Given the description of an element on the screen output the (x, y) to click on. 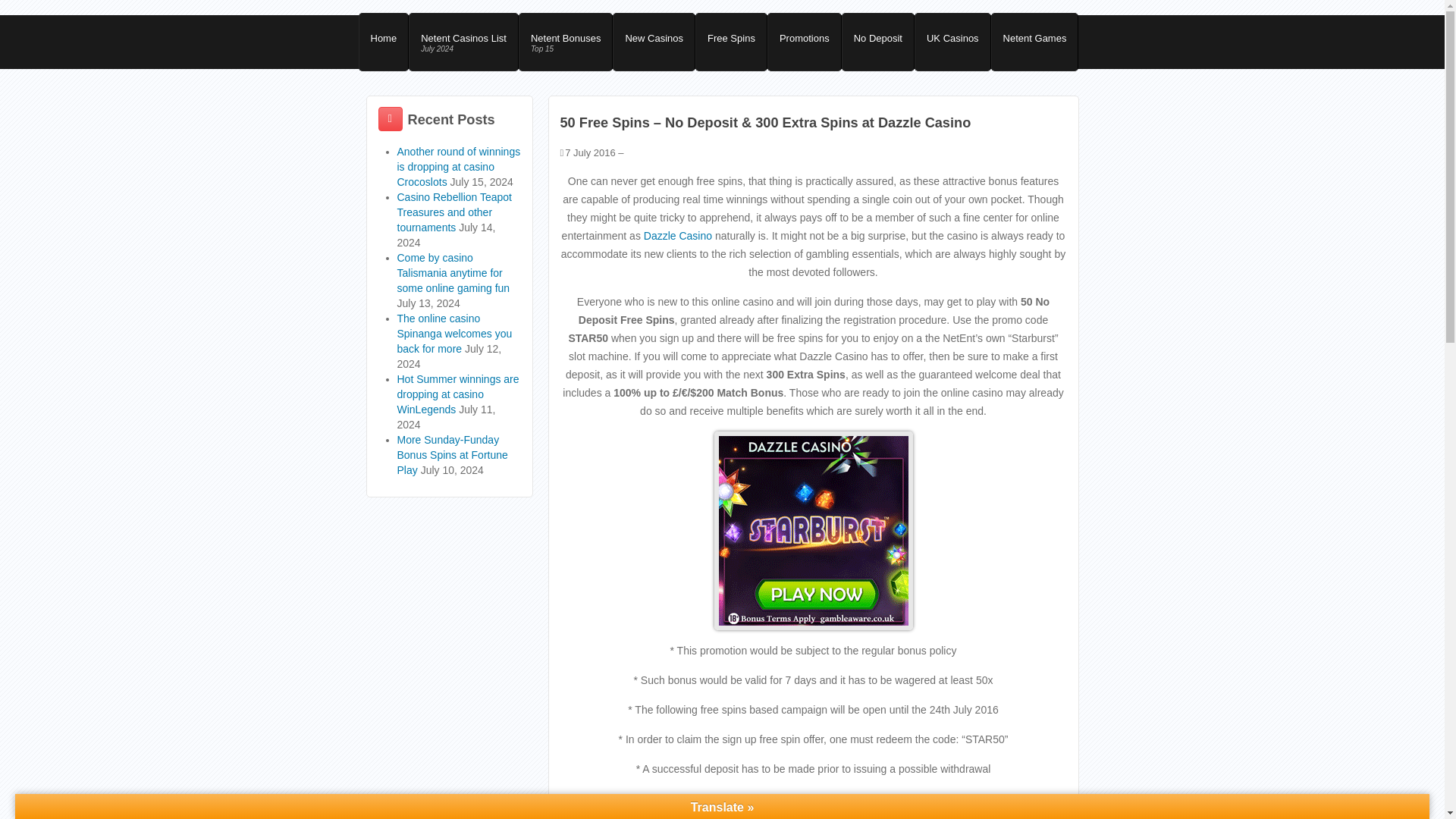
Come by casino Talismania anytime for some online gaming fun (454, 272)
Netent Games (565, 42)
New Casinos (1034, 42)
More Sunday-Funday Bonus Spins at Fortune Play (653, 42)
Free Spins (452, 454)
Home (463, 42)
The online casino Spinanga welcomes you back for more (731, 42)
Promotions (383, 42)
Hot Summer winnings are dropping at casino WinLegends (454, 333)
No Deposit (804, 42)
UK Casinos (458, 394)
Casino Rebellion Teapot Treasures and other tournaments (877, 42)
Another round of winnings is dropping at casino Crocoslots (952, 42)
